Given the description of an element on the screen output the (x, y) to click on. 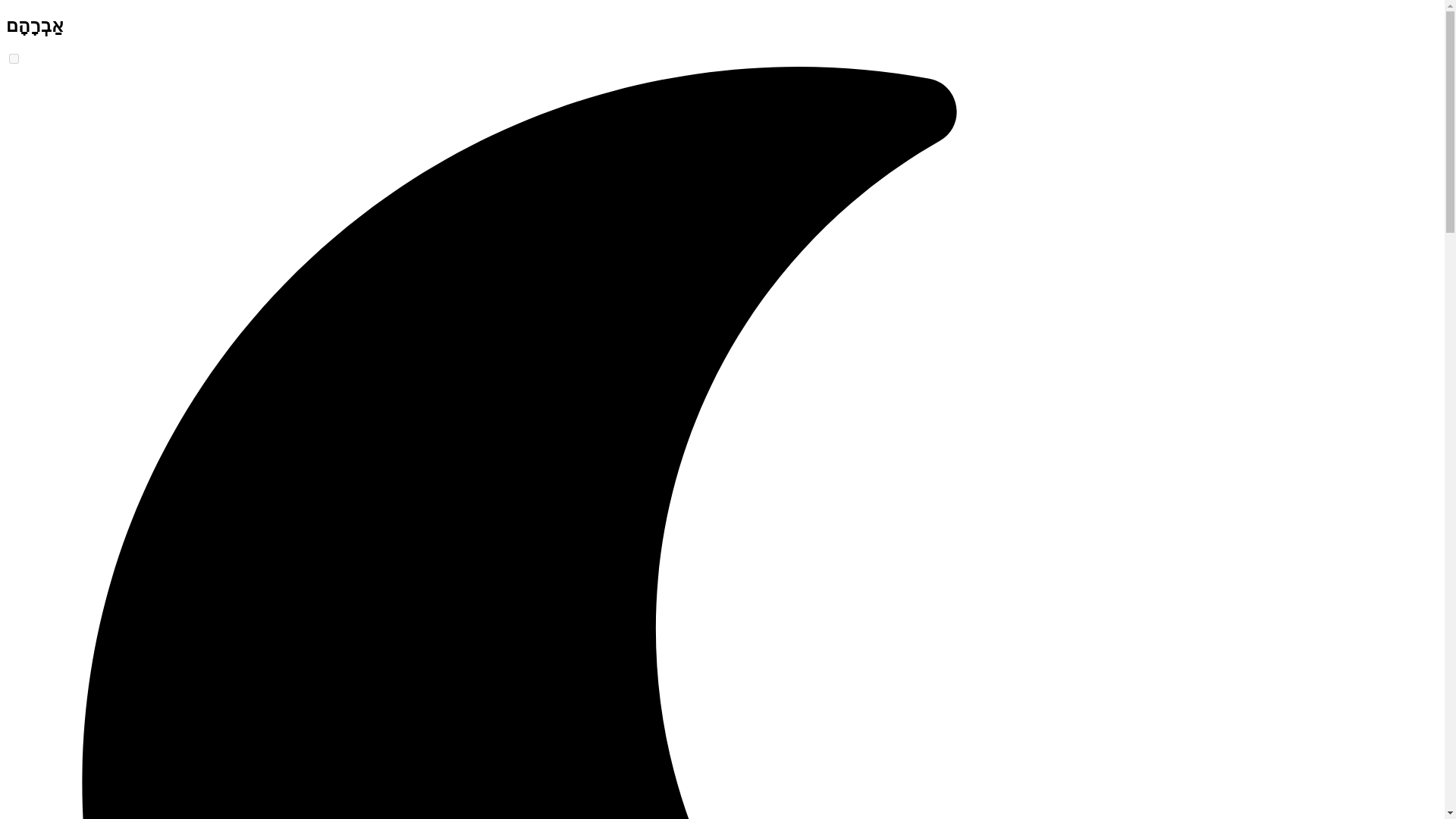
on (13, 58)
